Given the description of an element on the screen output the (x, y) to click on. 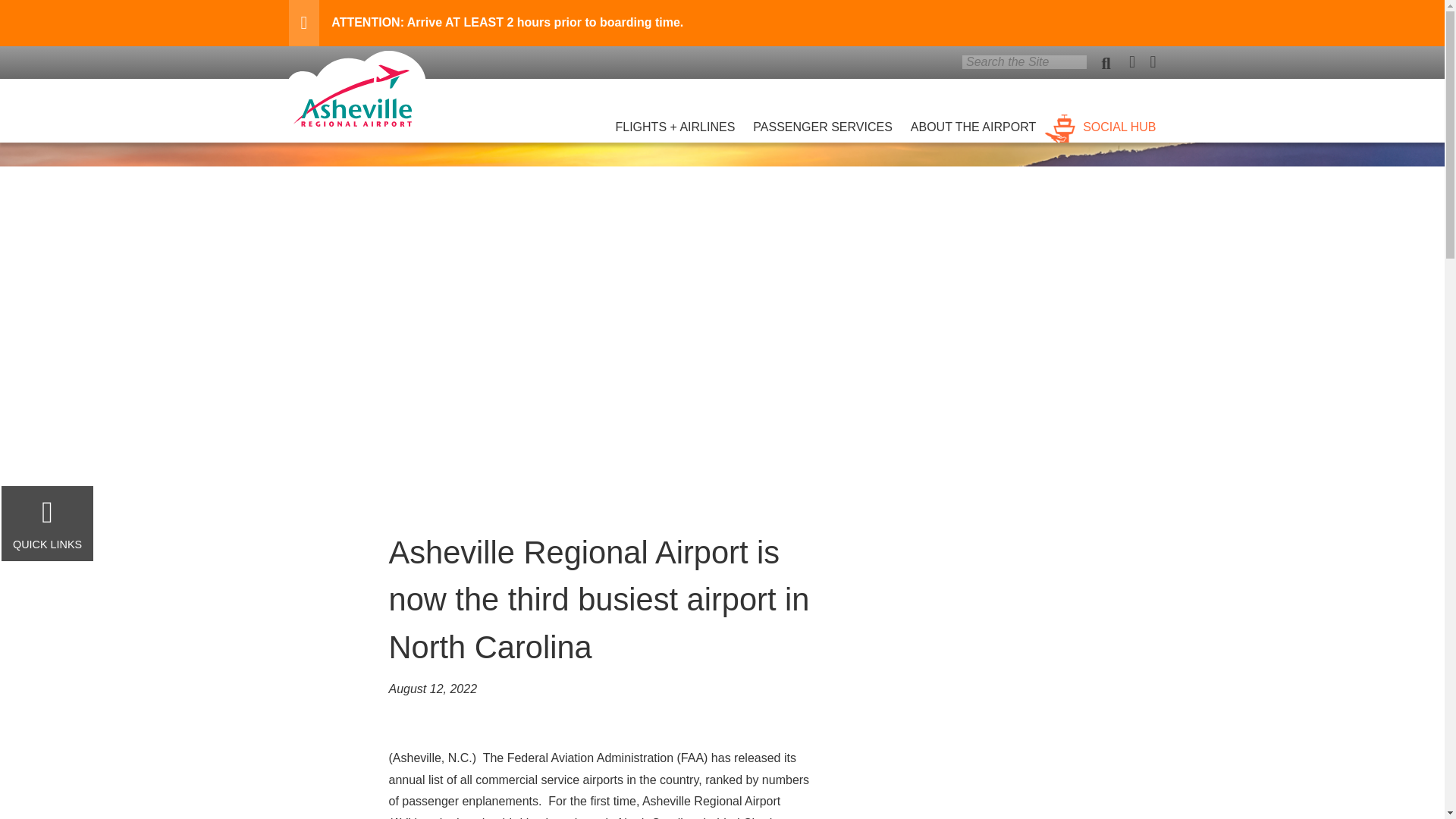
ABOUT THE AIRPORT (973, 118)
PASSENGER SERVICES (822, 118)
Home (356, 122)
SOCIAL HUB (1100, 118)
Enter the terms you wish to search for. (1024, 61)
